Given the description of an element on the screen output the (x, y) to click on. 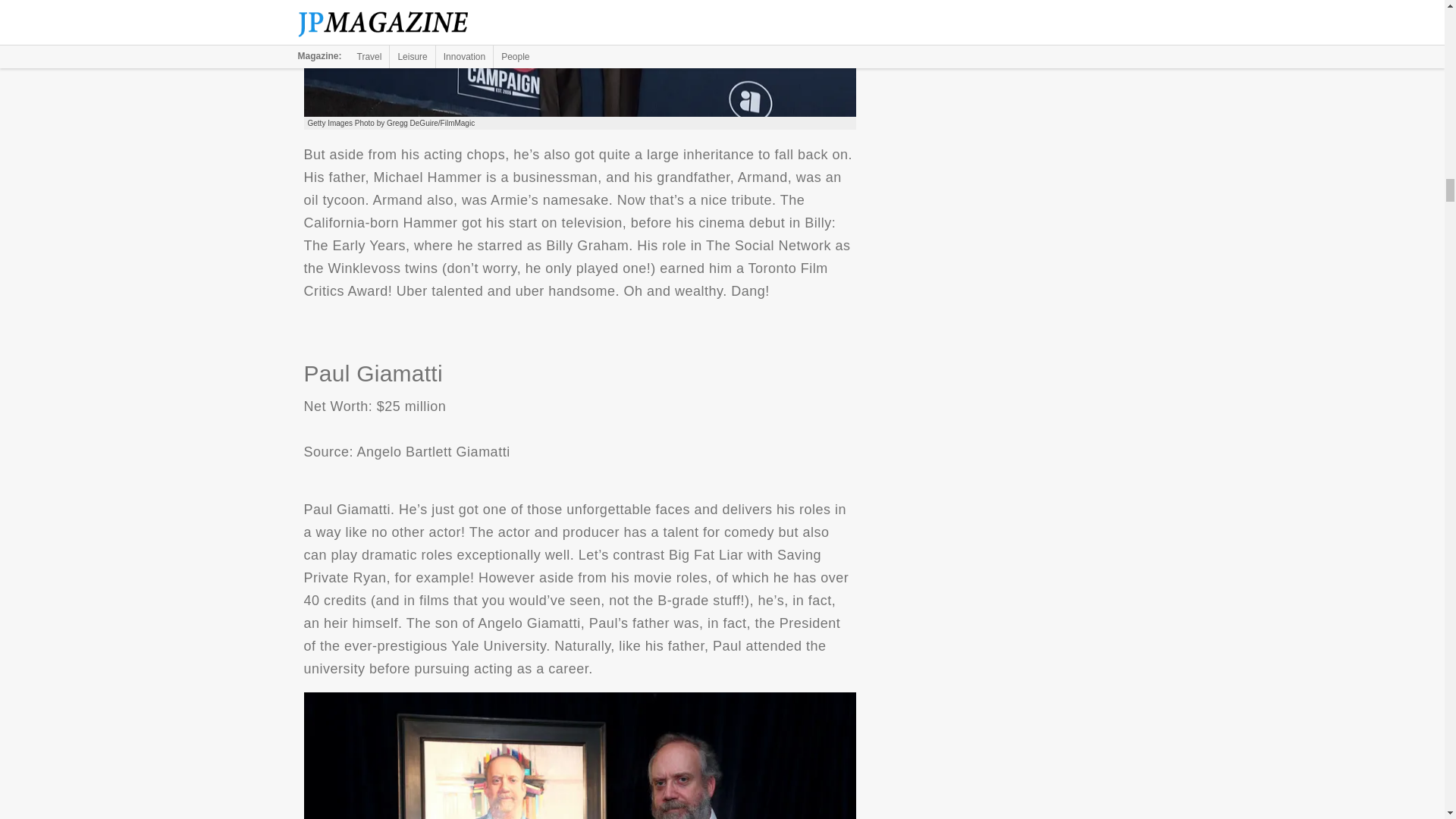
Paul Giamatti (579, 755)
Armie Hammer (579, 58)
